Given the description of an element on the screen output the (x, y) to click on. 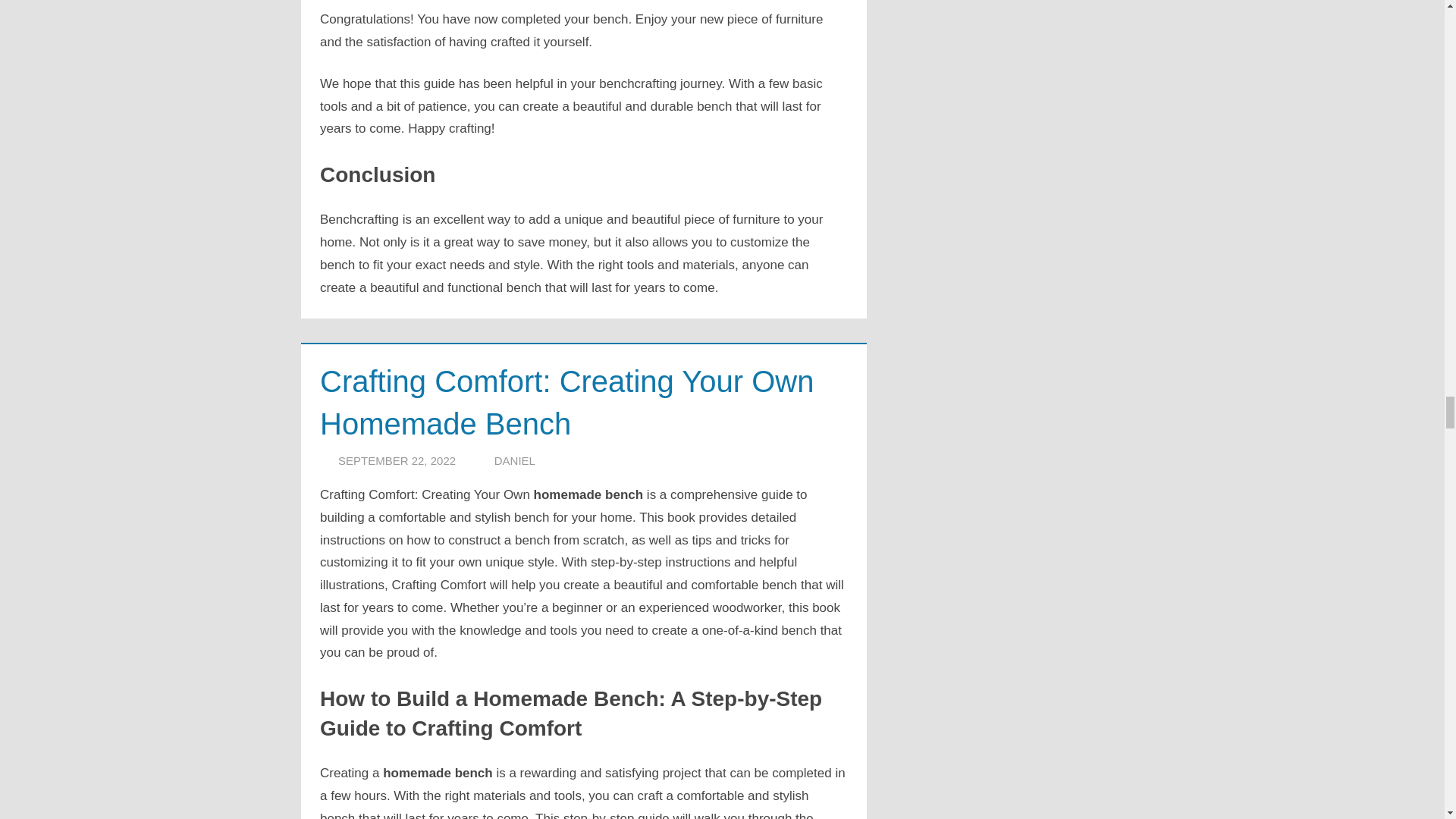
SEPTEMBER 22, 2022 (396, 460)
DANIEL (515, 460)
View all posts by Daniel (515, 460)
12:47 pm (396, 460)
Crafting Comfort: Creating Your Own Homemade Bench (566, 402)
